Given the description of an element on the screen output the (x, y) to click on. 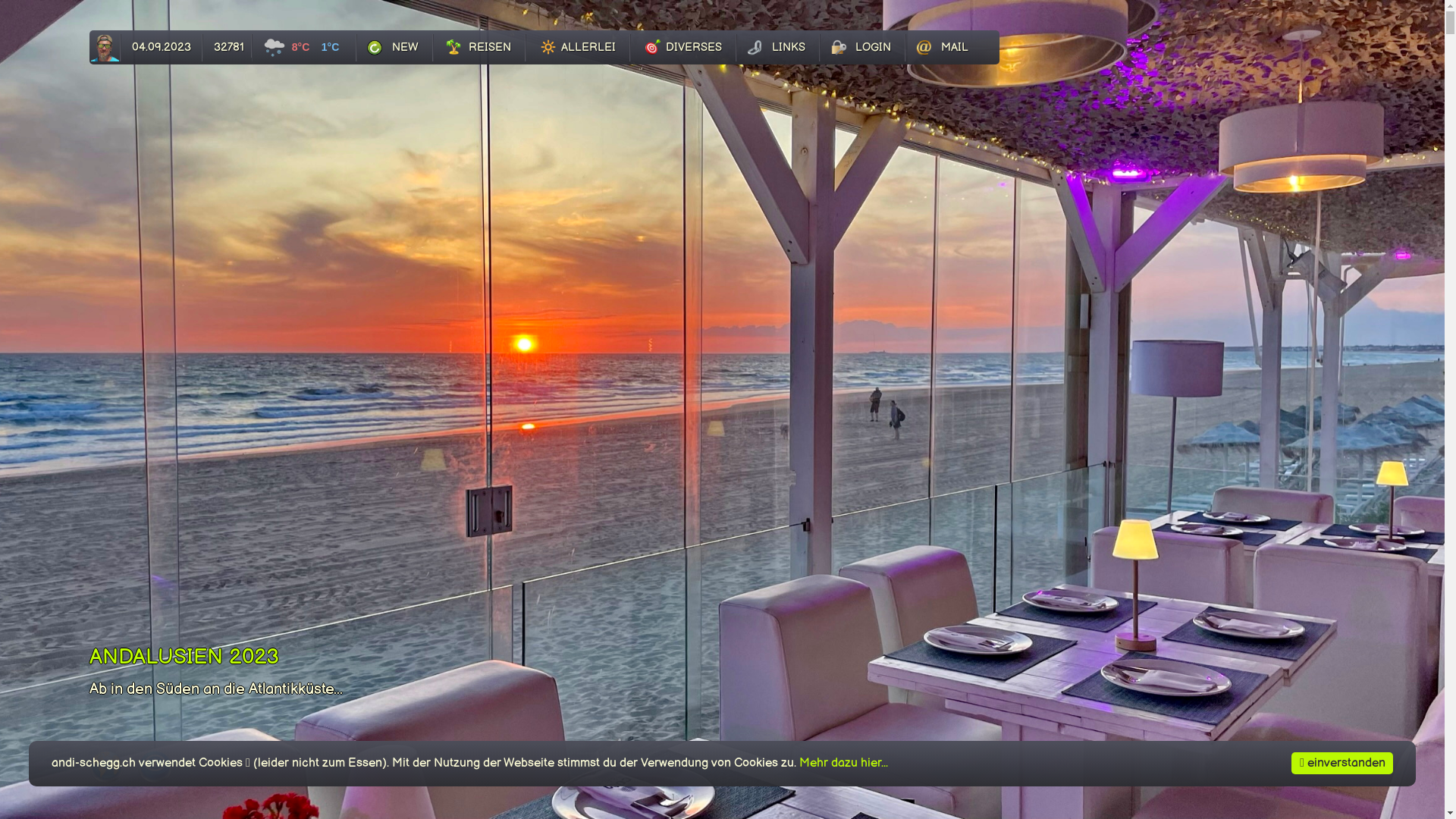
        MAIL  Element type: text (943, 47)
        DIVERSES  Element type: text (683, 47)
Mehr dazu hier... Element type: text (843, 763)
        LOGIN  Element type: text (862, 47)
mit Google Maps nach Andalusien... Element type: hover (106, 777)
ANDALUSIEN 2023 Element type: text (184, 656)
        REISEN  Element type: text (479, 47)
04.09.2023 Element type: text (161, 47)
        NEW  Element type: text (394, 47)
        ALLERLEI  Element type: text (577, 47)
        LINKS  Element type: text (777, 47)
    Element type: text (104, 47)
32781 Element type: text (226, 45)
